Given the description of an element on the screen output the (x, y) to click on. 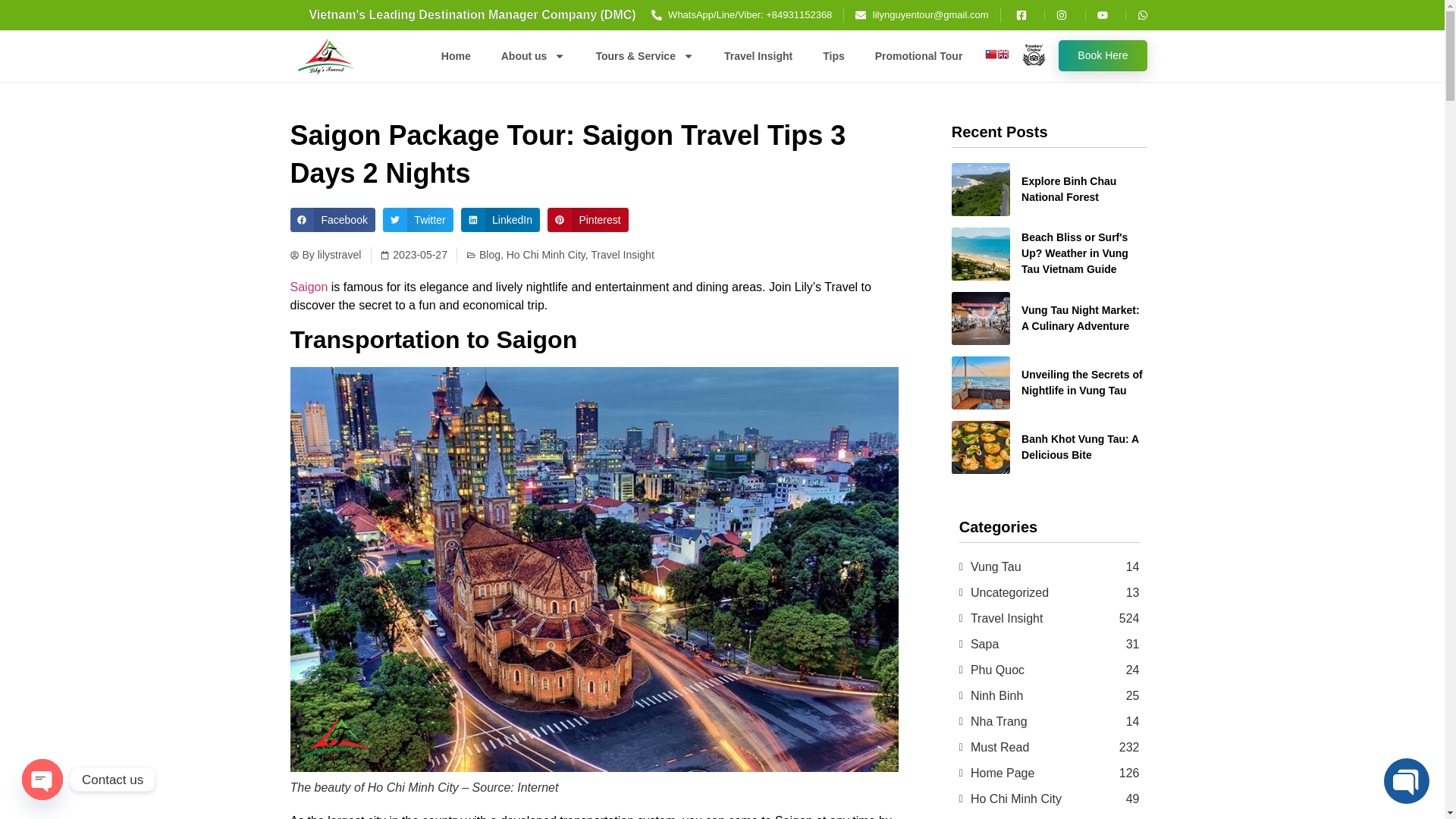
Tips (834, 54)
Promotional Tour (919, 54)
About us (533, 54)
Home (456, 54)
Travel Insight (758, 54)
